Given the description of an element on the screen output the (x, y) to click on. 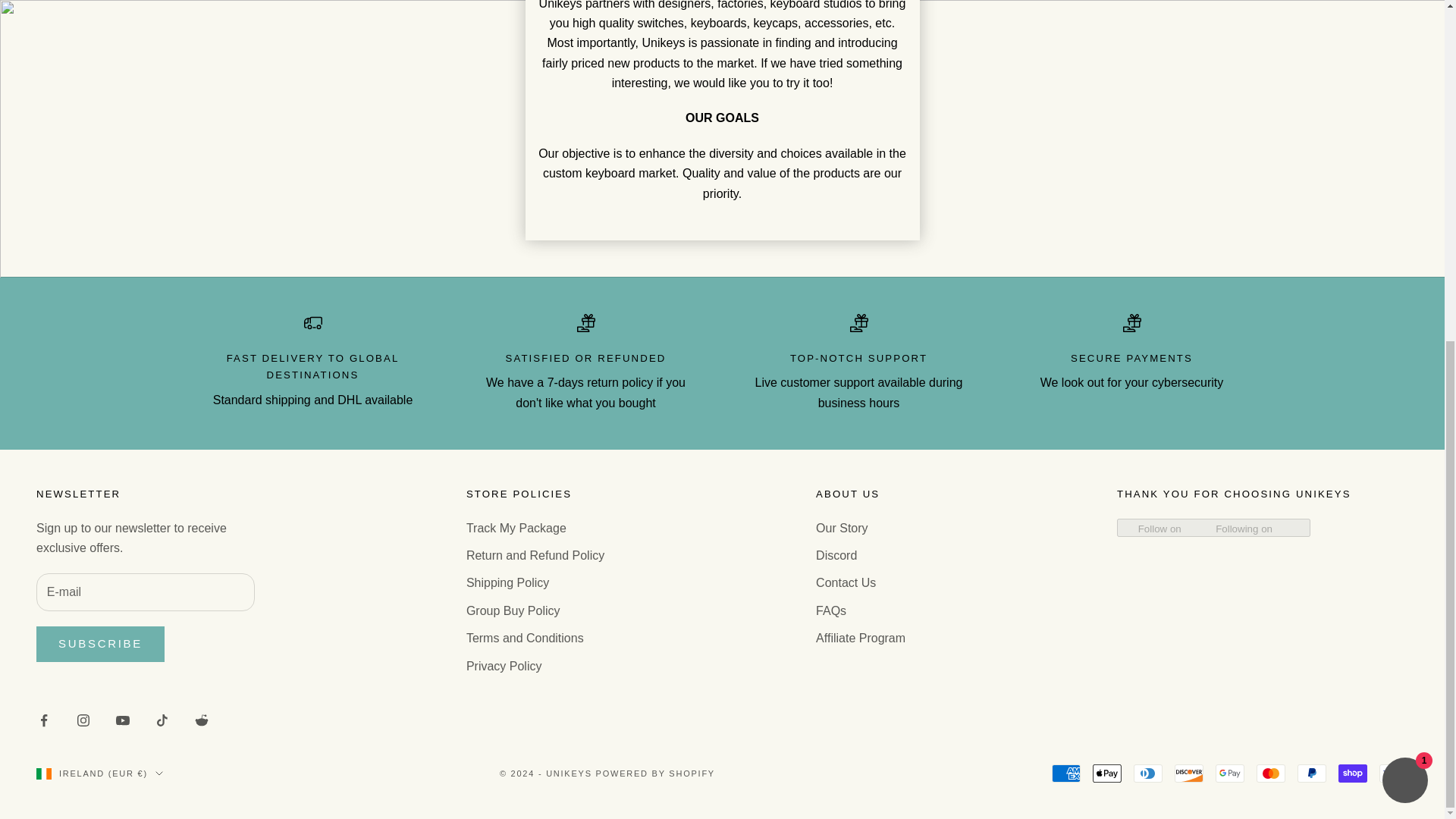
Shopify online store chat (1404, 203)
